Given the description of an element on the screen output the (x, y) to click on. 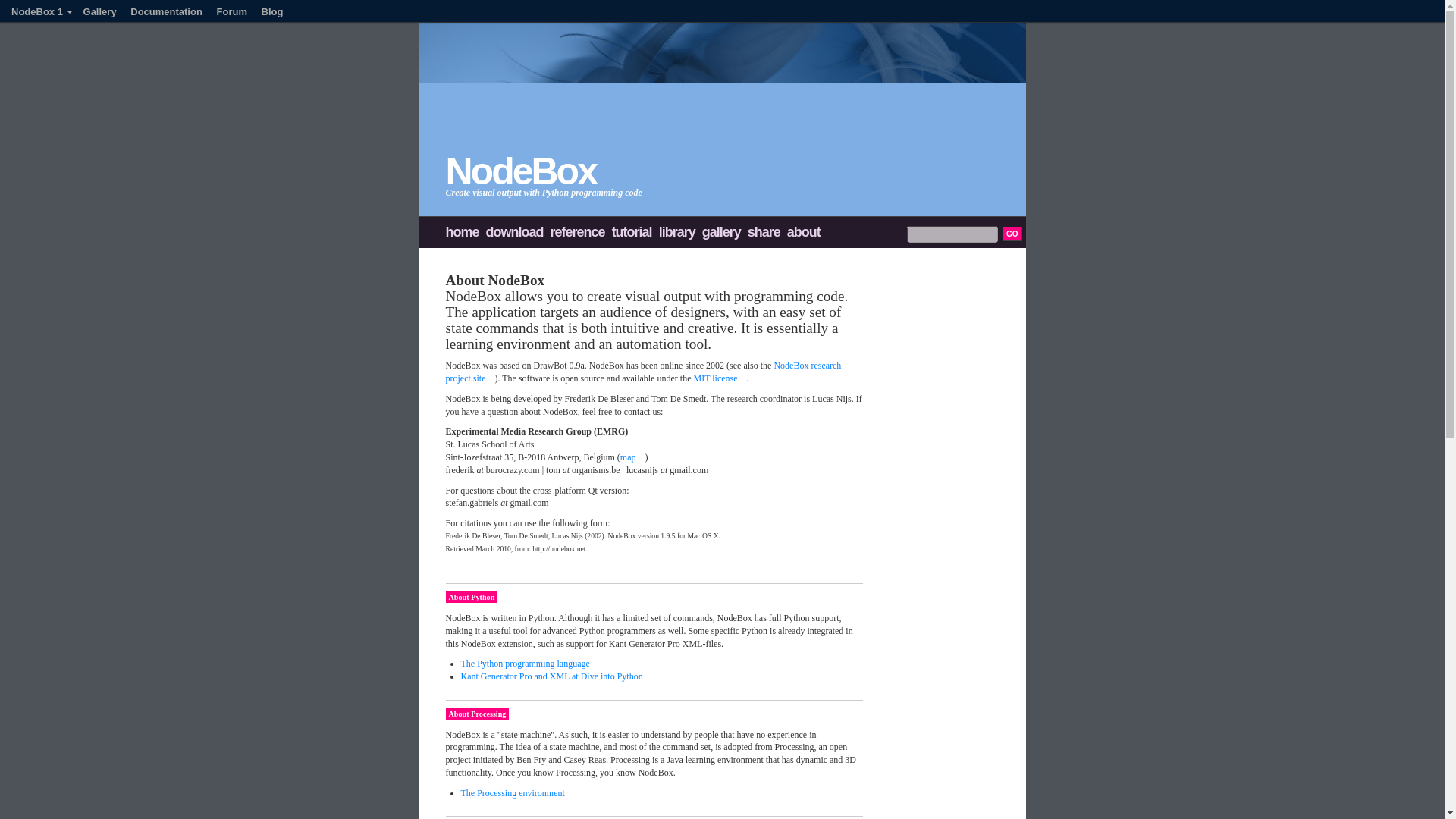
Documentation (172, 11)
The Processing environment (517, 792)
MIT license (719, 378)
about (805, 231)
tutorial (633, 231)
Kant Generator Pro and XML at Dive into Python (556, 675)
map (632, 457)
The Python programming language (529, 663)
home (464, 231)
